Given the description of an element on the screen output the (x, y) to click on. 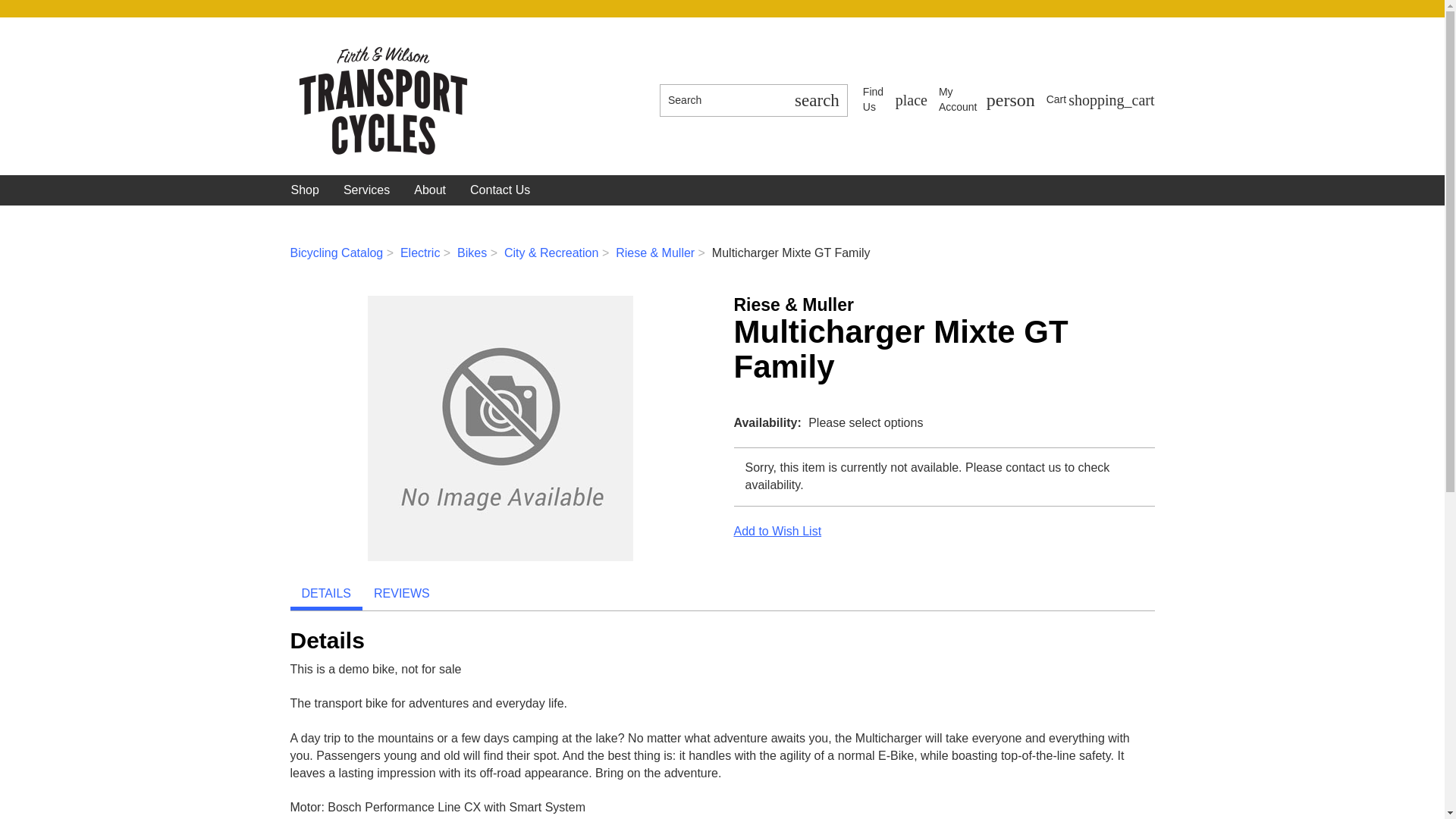
Shop (1100, 99)
Stores (304, 190)
Search (895, 100)
Account (816, 100)
Search (987, 100)
